Given the description of an element on the screen output the (x, y) to click on. 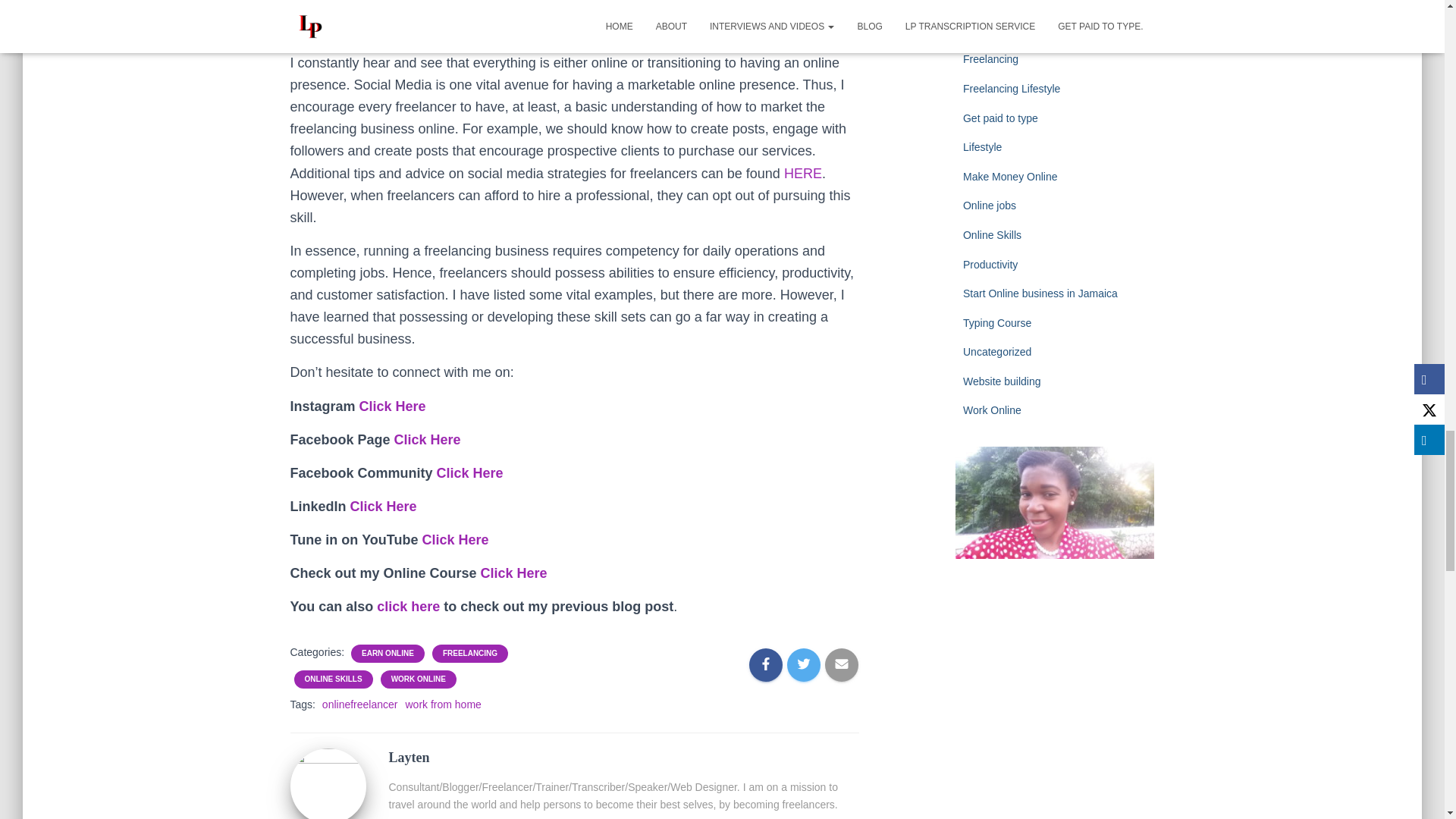
WORK ONLINE (418, 679)
 Click Here (381, 506)
 Click Here (512, 572)
 Click Here (425, 439)
HERE (803, 173)
ONLINE SKILLS (333, 679)
click here (408, 606)
onlinefreelancer (359, 704)
 Click Here (467, 473)
work from home (442, 704)
 Click Here (390, 406)
Click Here (454, 539)
FREELANCING (470, 653)
EARN ONLINE (386, 653)
Layten (327, 785)
